Given the description of an element on the screen output the (x, y) to click on. 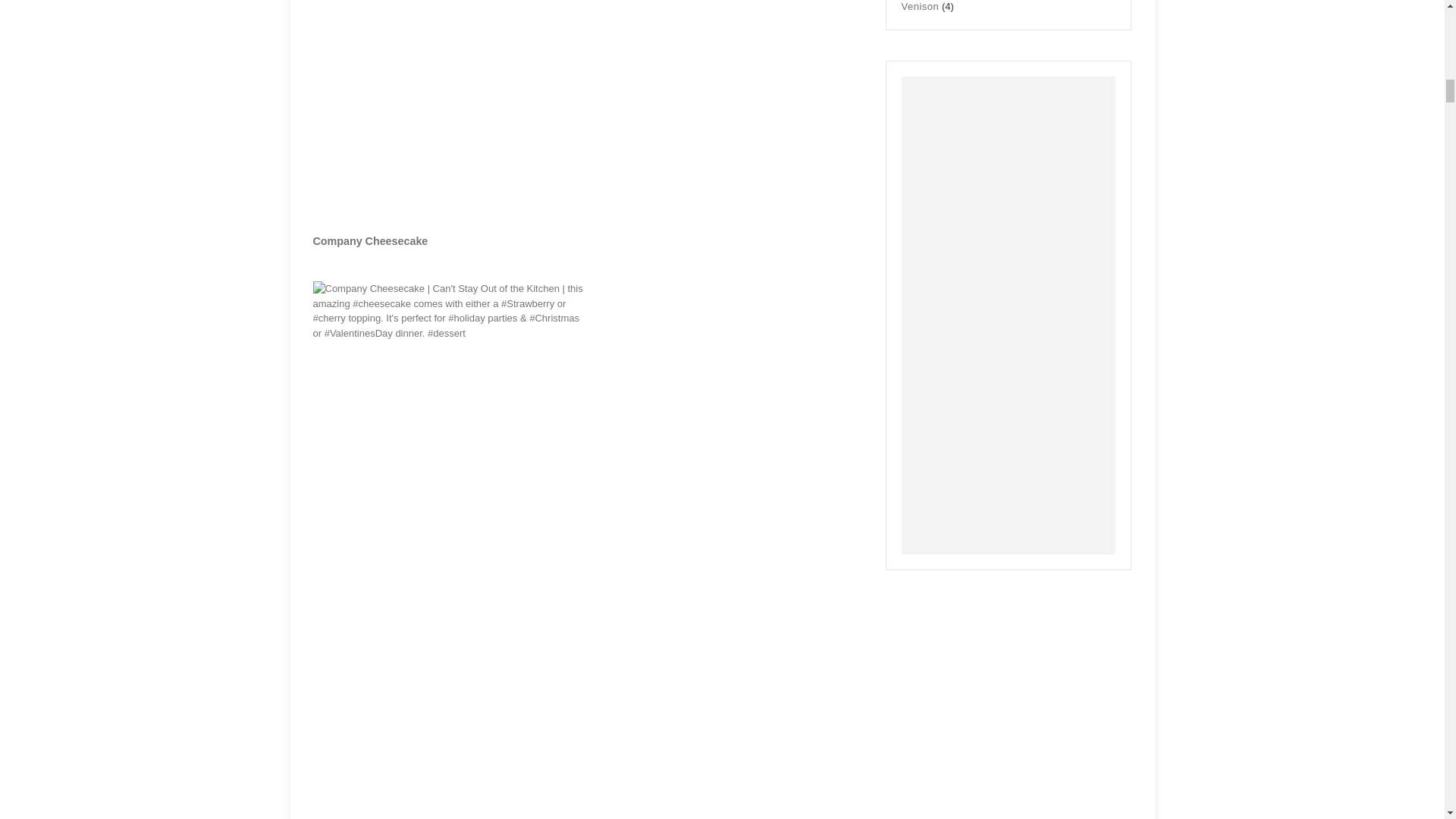
company cheesecake (370, 241)
Company Cheesecake (370, 241)
